Given the description of an element on the screen output the (x, y) to click on. 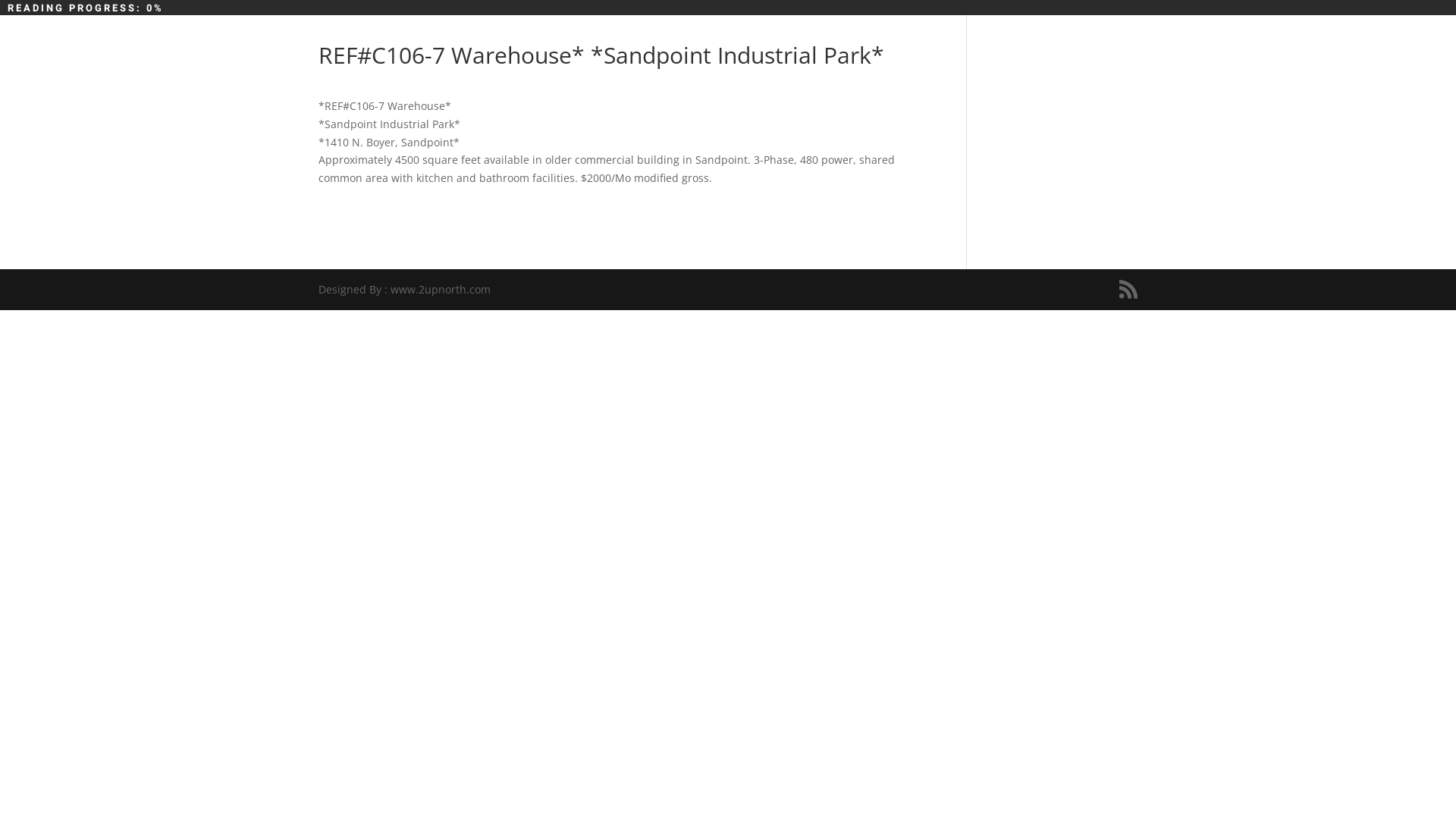
Skip to content Element type: text (0, 0)
